Given the description of an element on the screen output the (x, y) to click on. 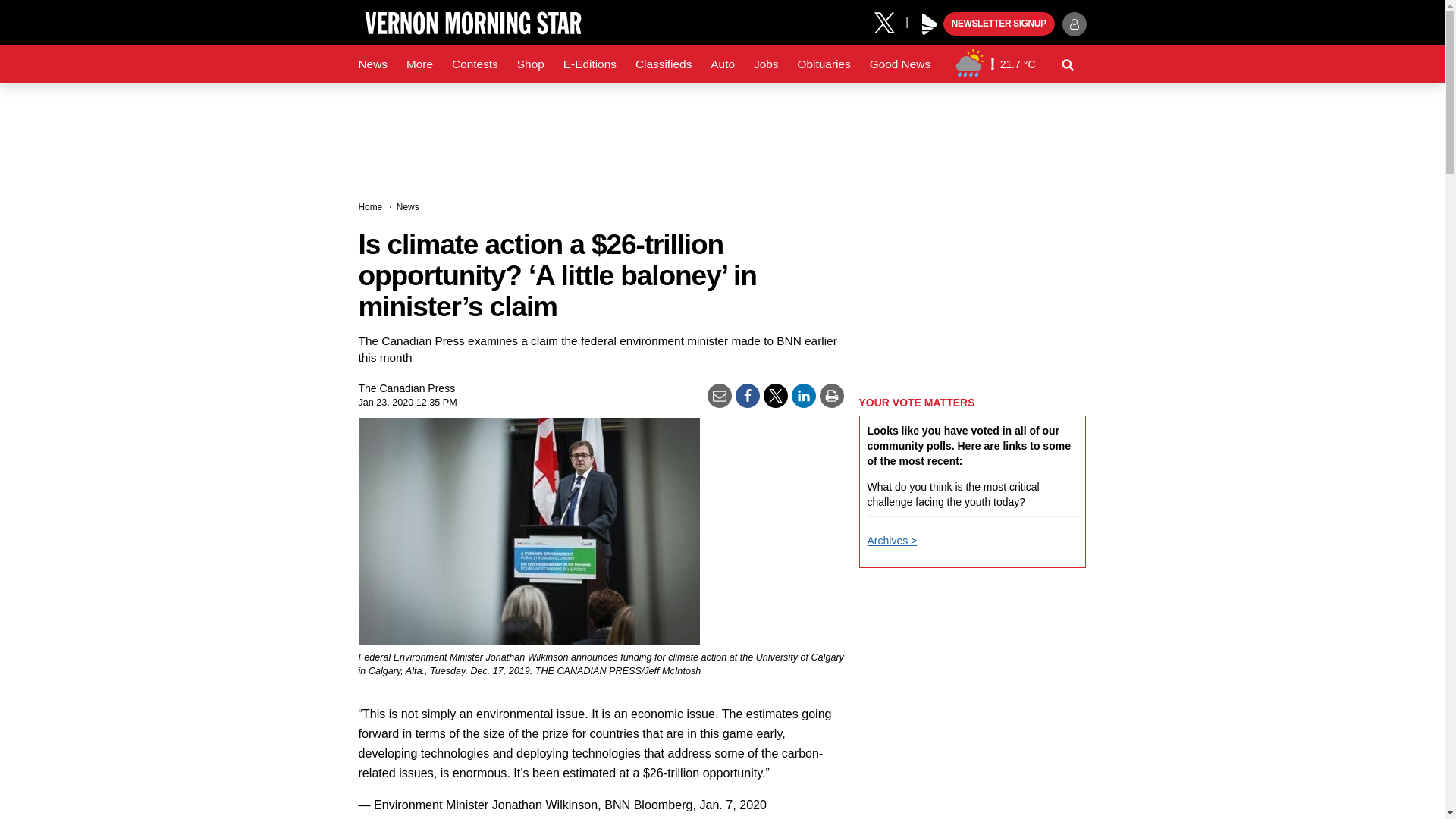
Play (929, 24)
Weather alert (992, 64)
3rd party ad content (972, 803)
NEWSLETTER SIGNUP (998, 24)
3rd party ad content (972, 287)
X (889, 21)
3rd party ad content (721, 131)
News (372, 64)
3rd party ad content (972, 678)
Black Press Media (929, 24)
